Given the description of an element on the screen output the (x, y) to click on. 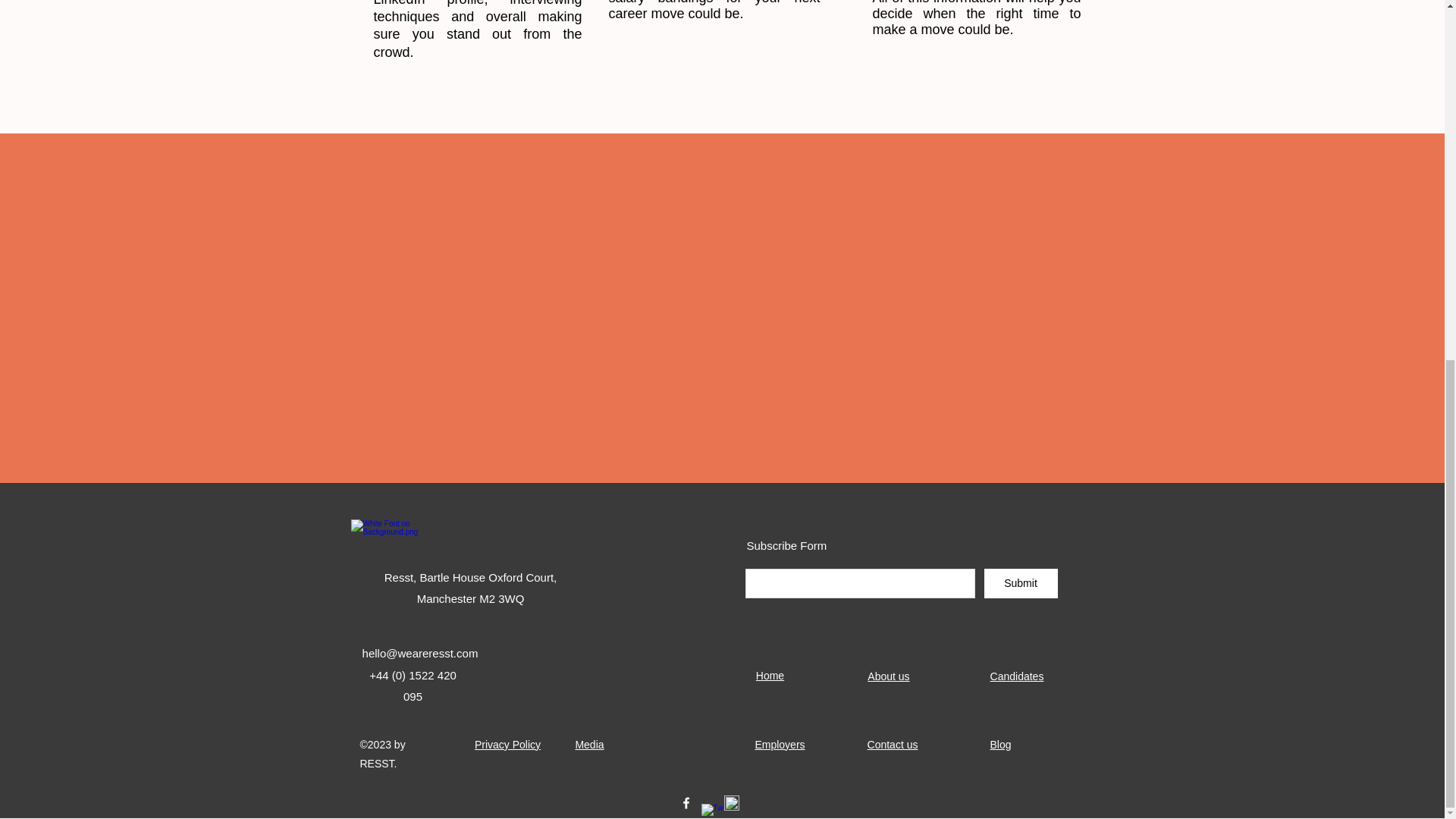
Employers (779, 744)
Blog (1000, 744)
Privacy Policy (507, 744)
Contact us (892, 744)
About us (887, 676)
Media (589, 744)
Home (769, 674)
Candidates (1016, 676)
Submit (1021, 583)
